Given the description of an element on the screen output the (x, y) to click on. 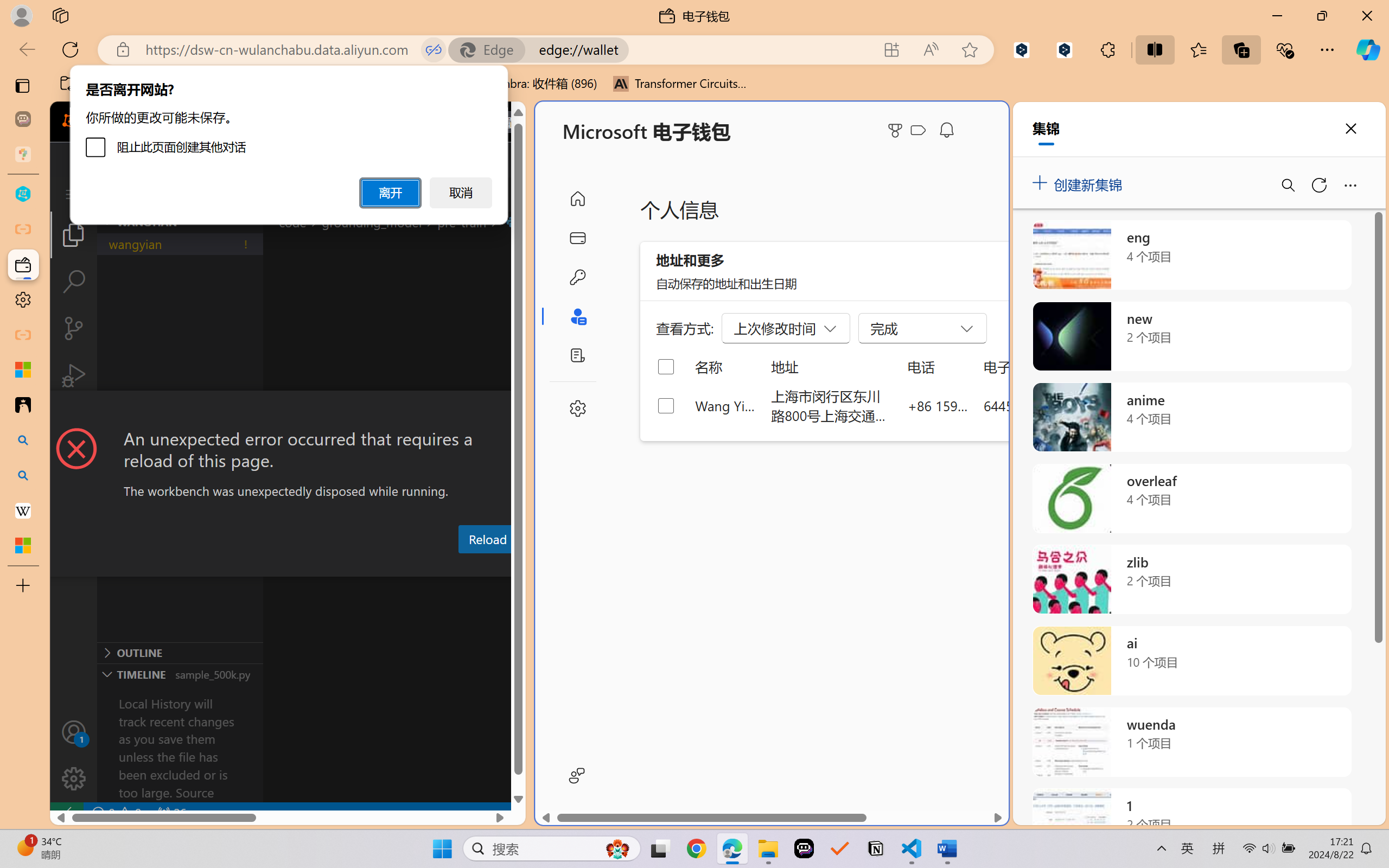
Class: actions-container (287, 410)
Accounts - Sign in requested (73, 732)
Terminal (Ctrl+`) (553, 565)
